Given the description of an element on the screen output the (x, y) to click on. 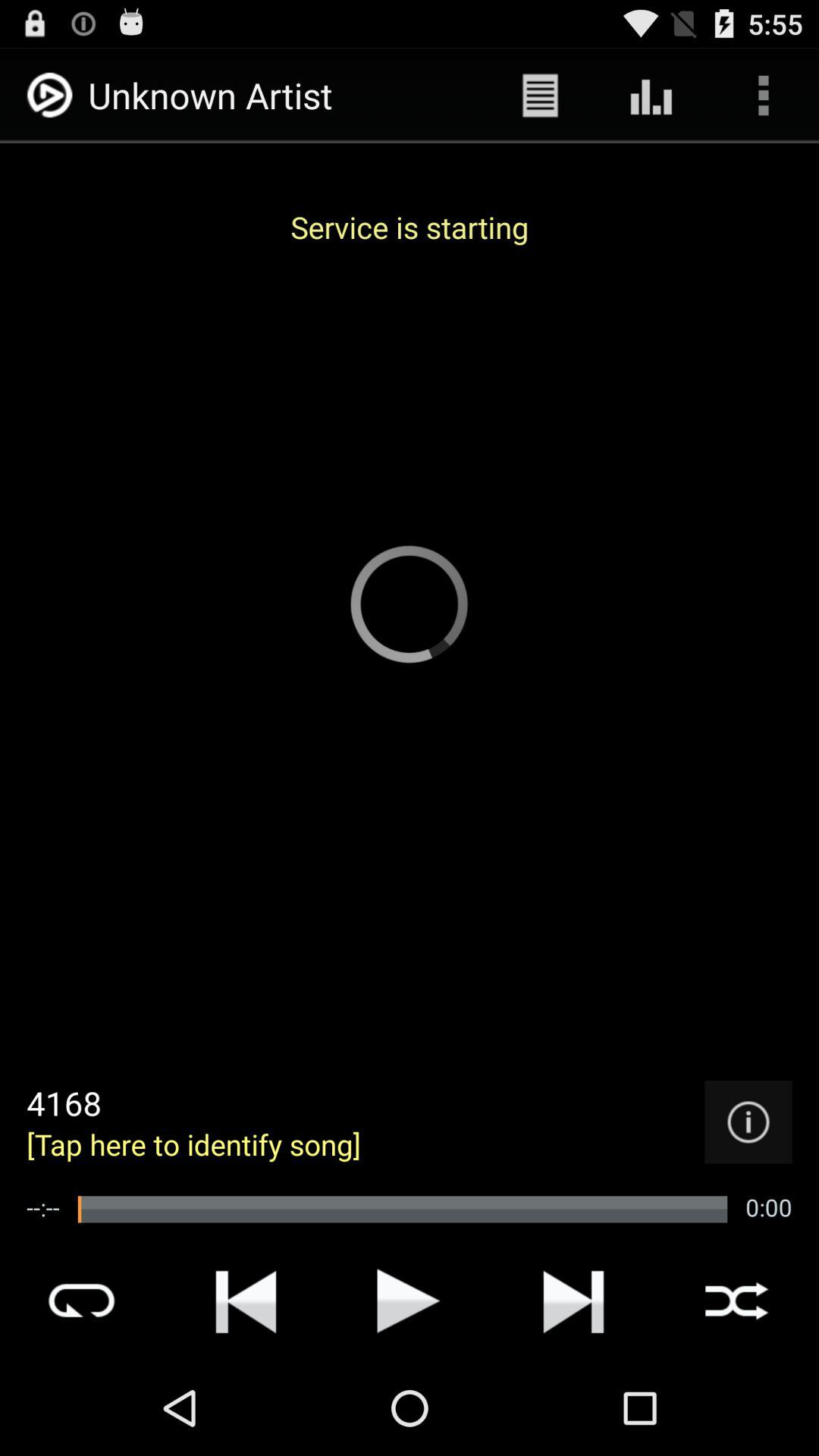
click icon above the service is starting icon (540, 95)
